Given the description of an element on the screen output the (x, y) to click on. 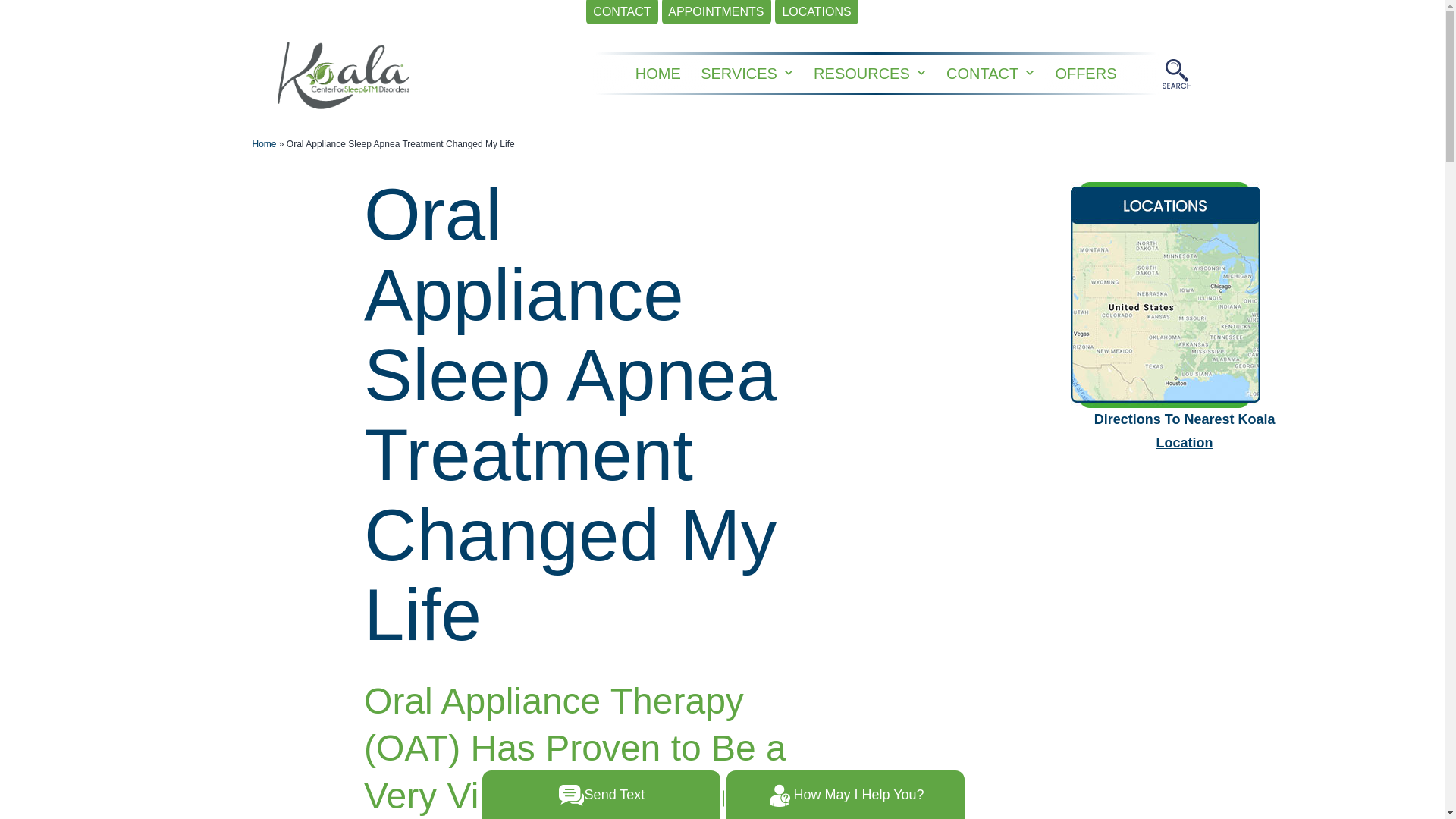
CONTACT (982, 72)
LOCATIONS (816, 12)
CONTACT (622, 12)
RESOURCES (861, 72)
APPOINTMENTS (716, 12)
SERVICES (738, 72)
HOME (658, 72)
